Given the description of an element on the screen output the (x, y) to click on. 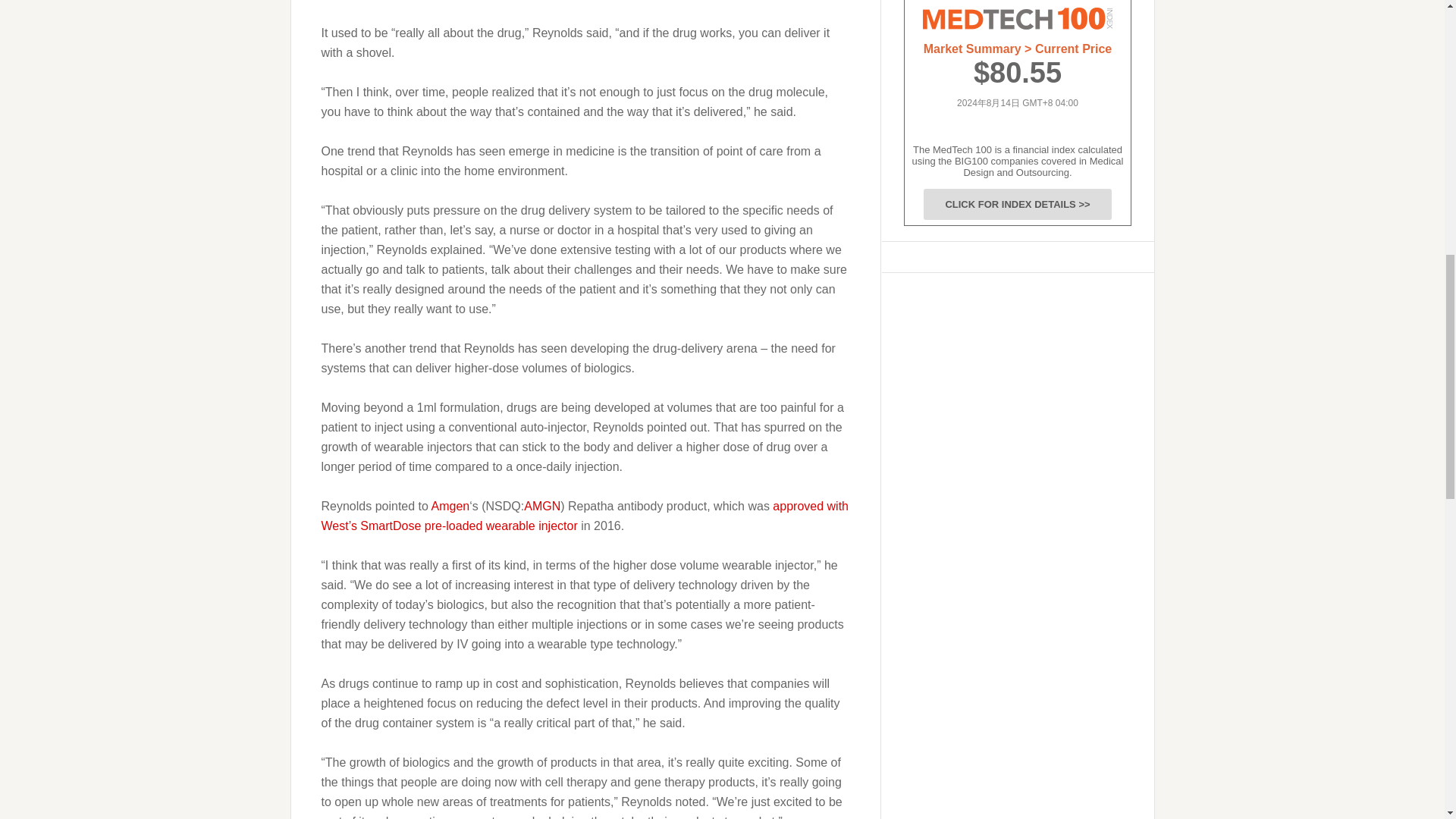
AMGN (542, 504)
Amgen stock ticker (542, 504)
Amgen (449, 504)
